Given the description of an element on the screen output the (x, y) to click on. 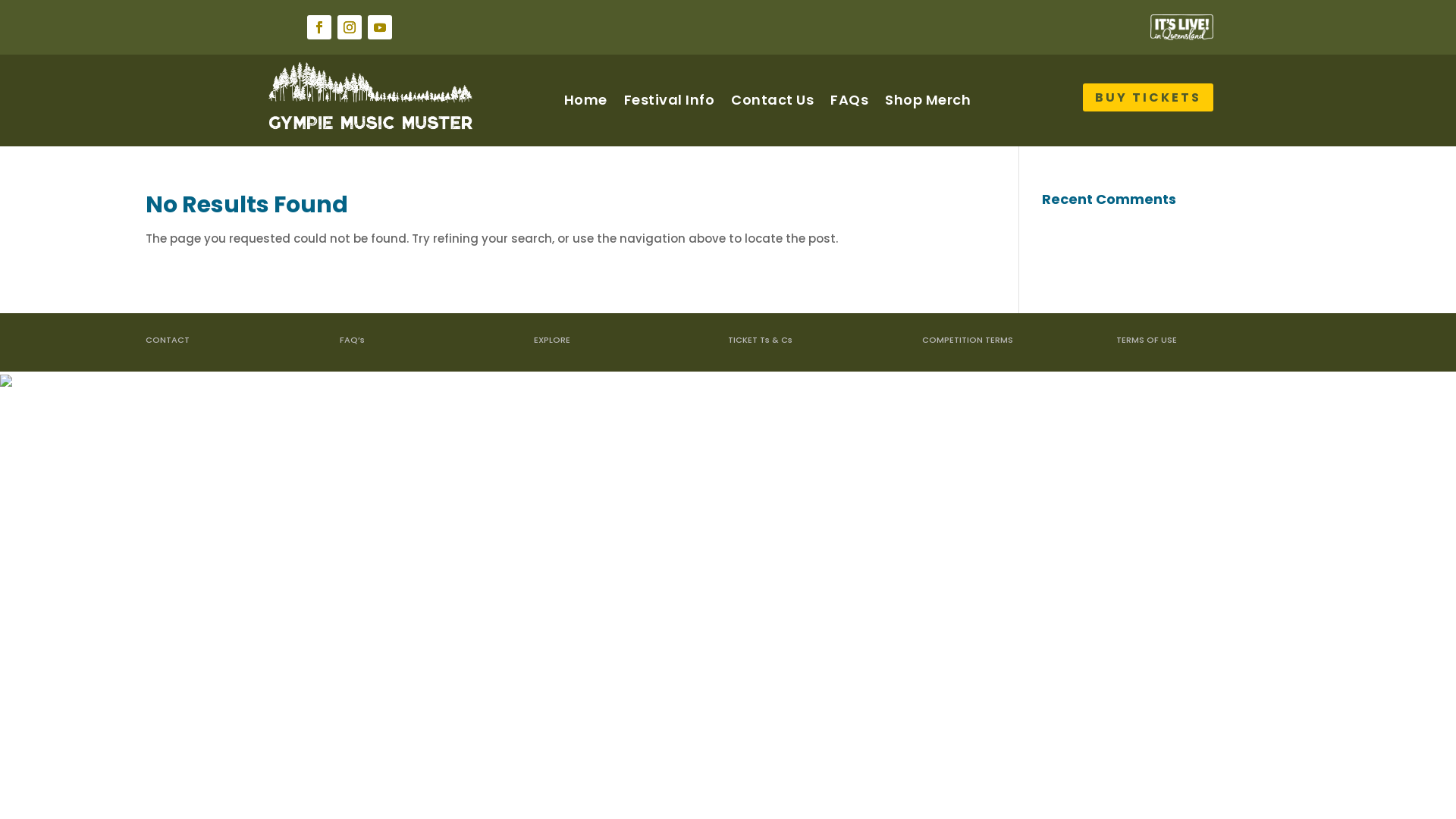
EXPLORE Element type: text (551, 339)
TICKET Ts & Cs Element type: text (760, 339)
COMPETITION TERMS Element type: text (967, 339)
Follow on Youtube Element type: hover (379, 27)
Festival Info Element type: text (668, 100)
Contact Us Element type: text (772, 100)
FAQs Element type: text (849, 100)
Shop Merch Element type: text (927, 100)
CONTACT Element type: text (167, 339)
Follow on Facebook Element type: hover (319, 27)
TERMS OF USE Element type: text (1146, 339)
ItsLive_Qld_Stamp_White Element type: hover (1181, 27)
BUY TICKETS Element type: text (1147, 97)
Home Element type: text (585, 100)
Follow on Instagram Element type: hover (349, 27)
